Given the description of an element on the screen output the (x, y) to click on. 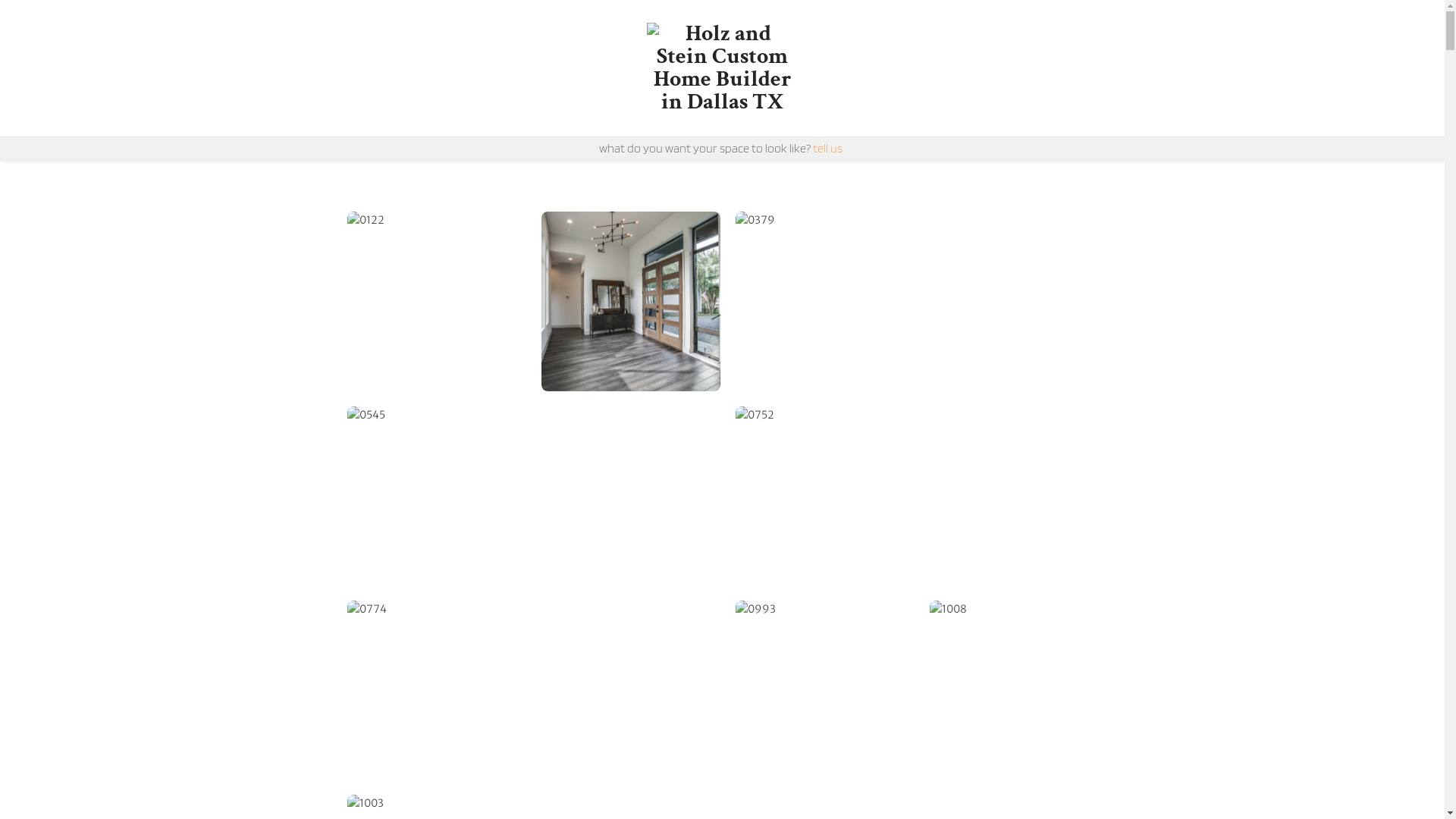
0774 Element type: hover (534, 690)
0122 Element type: hover (436, 300)
0545 Element type: hover (534, 496)
tell us Element type: text (827, 148)
0192 Element type: hover (630, 300)
0752 Element type: hover (922, 496)
0379 Element type: hover (922, 301)
